Given the description of an element on the screen output the (x, y) to click on. 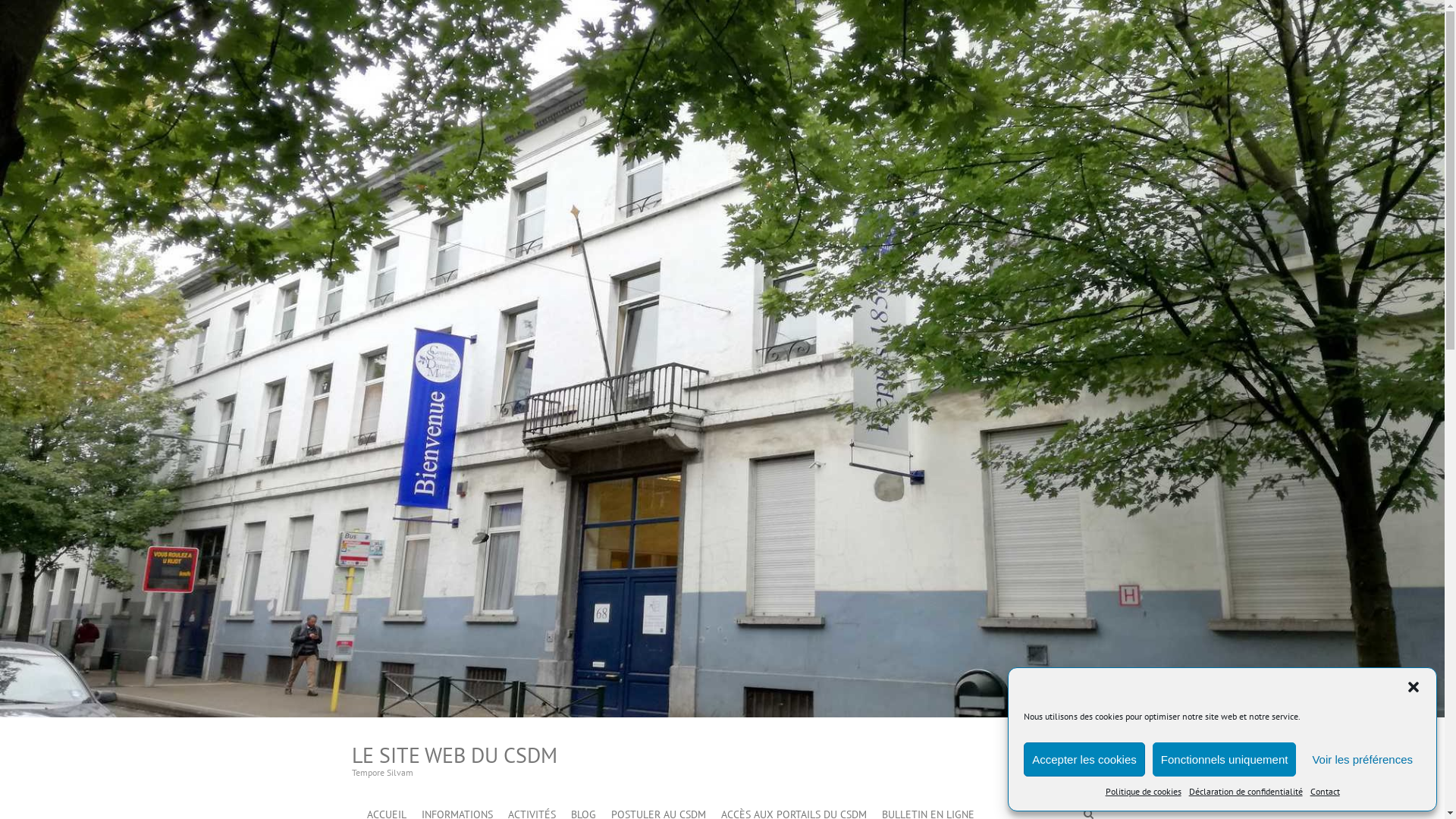
LE SITE WEB DU CSDM Element type: text (454, 754)
Fonctionnels uniquement Element type: text (1224, 759)
Contact Element type: text (1324, 791)
Politique de cookies Element type: text (1143, 791)
Accepter les cookies Element type: text (1084, 759)
